Given the description of an element on the screen output the (x, y) to click on. 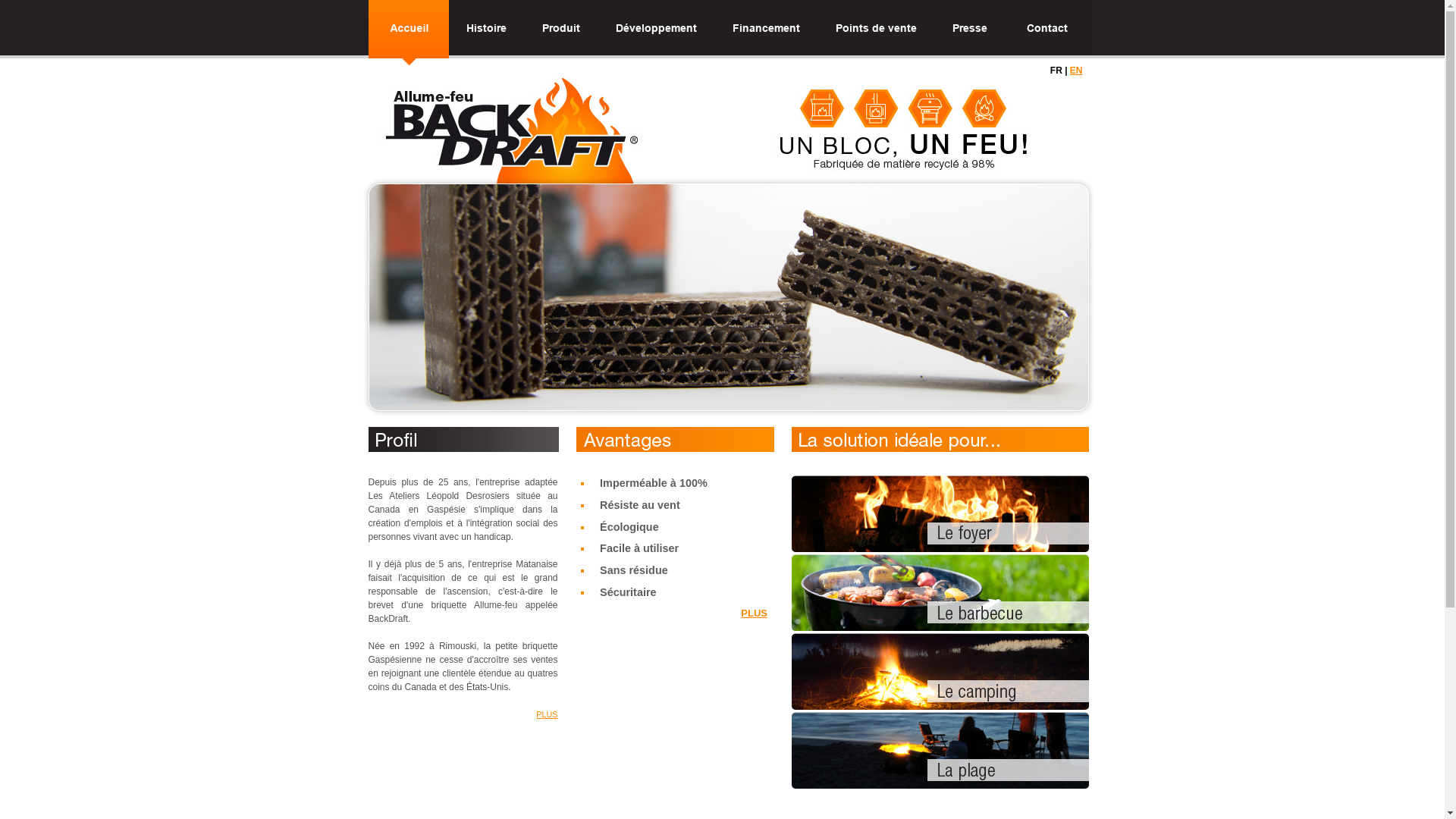
EN Element type: text (1076, 70)
PLUS Element type: text (546, 714)
PLUS Element type: text (753, 612)
